Given the description of an element on the screen output the (x, y) to click on. 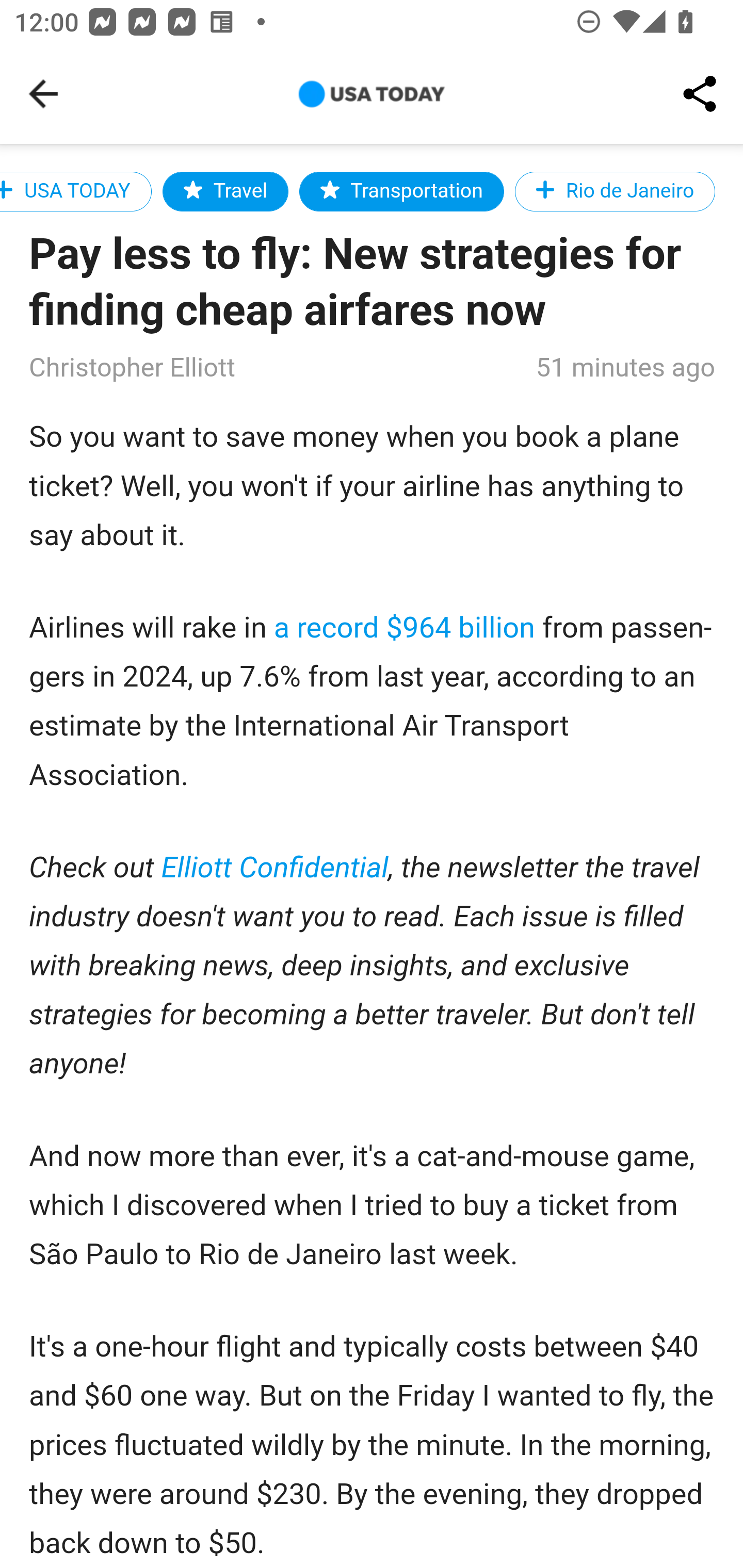
USA TODAY (75, 191)
Travel (224, 191)
Transportation (401, 191)
Rio de Janeiro (614, 191)
a record $964 billion (404, 627)
Elliott Confidential (275, 868)
